Given the description of an element on the screen output the (x, y) to click on. 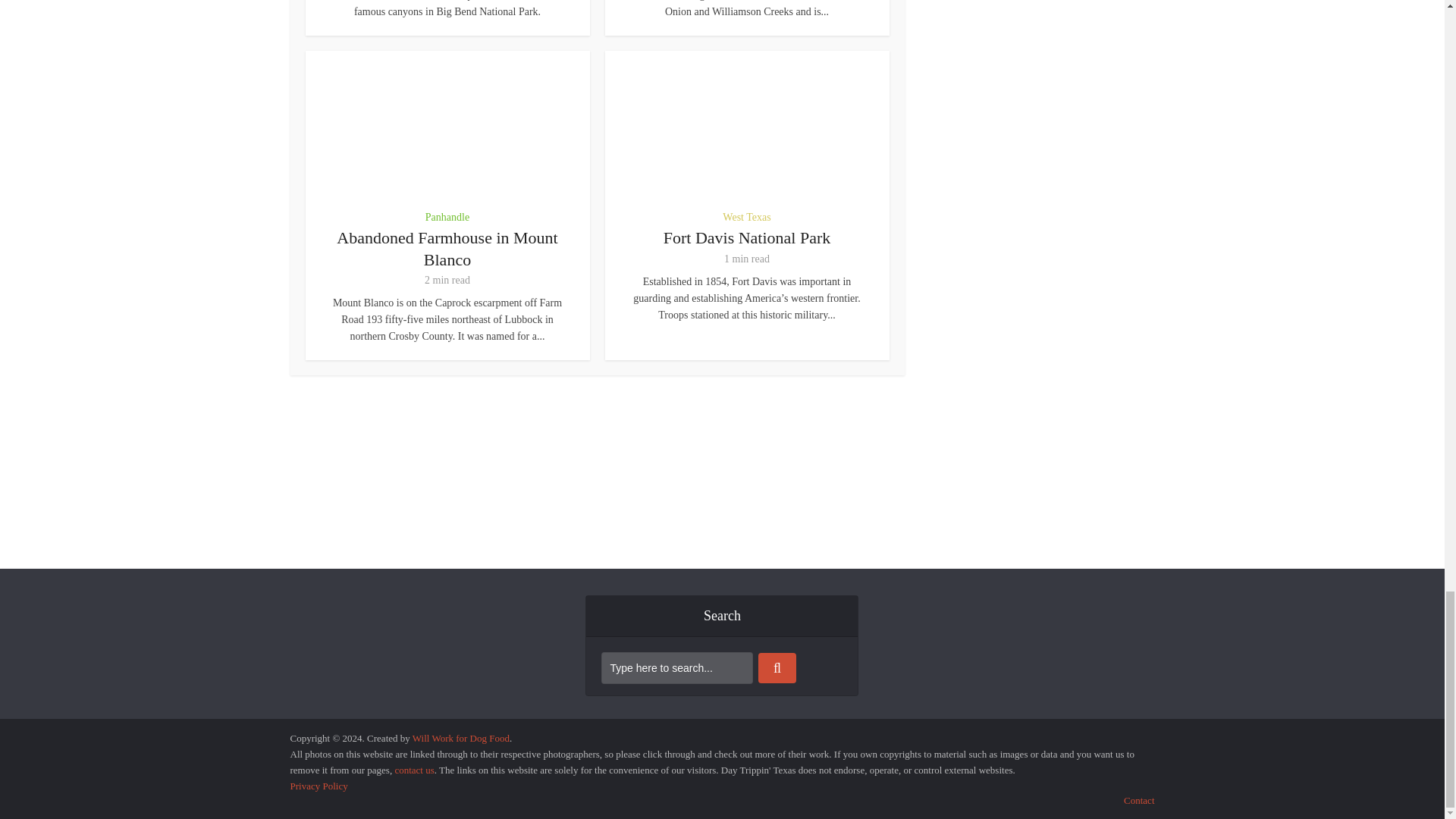
Type here to search... (676, 667)
Abandoned Farmhouse in Mount Blanco (446, 248)
Type here to search... (676, 667)
